Given the description of an element on the screen output the (x, y) to click on. 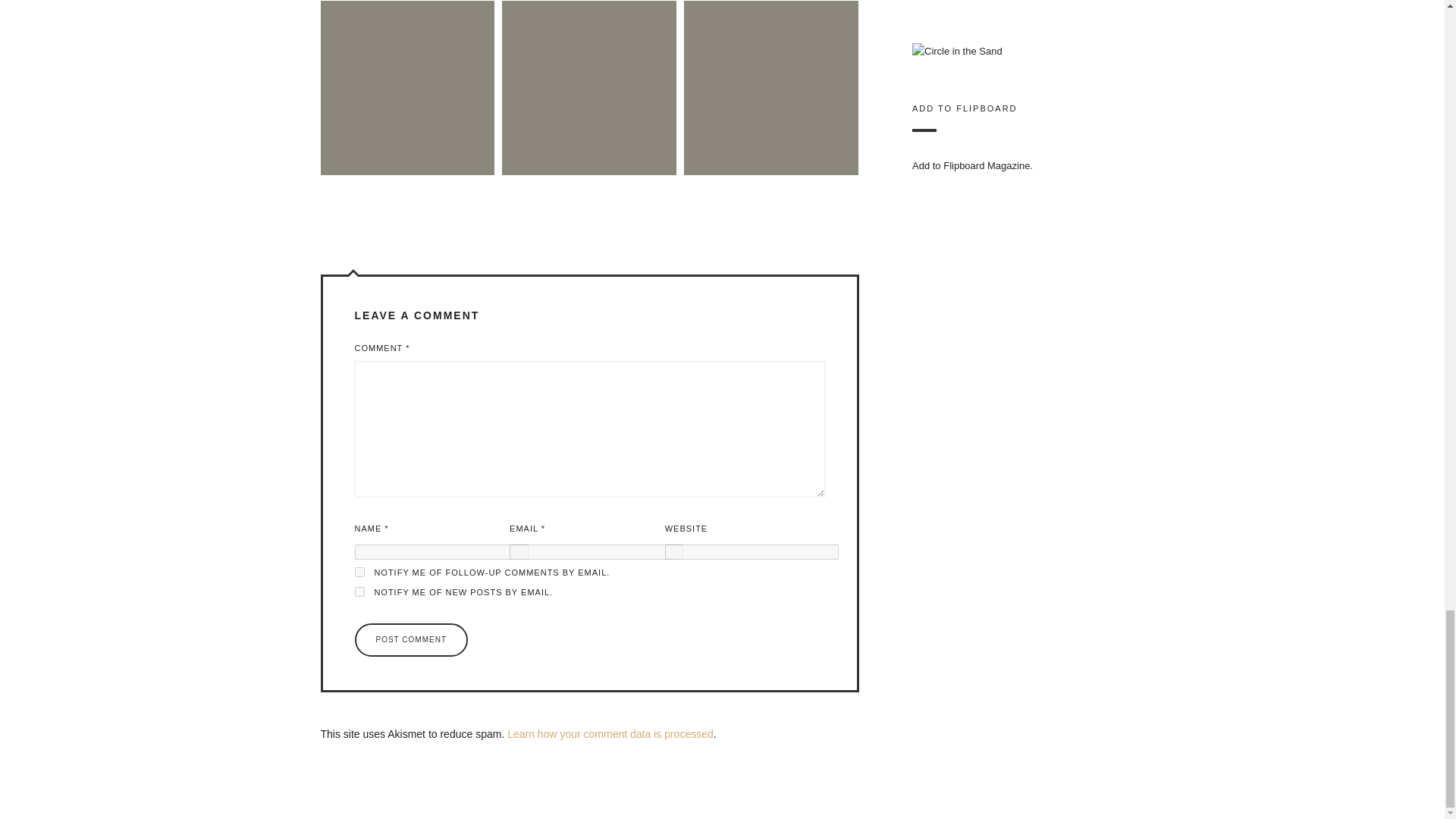
Post Comment (411, 639)
